Given the description of an element on the screen output the (x, y) to click on. 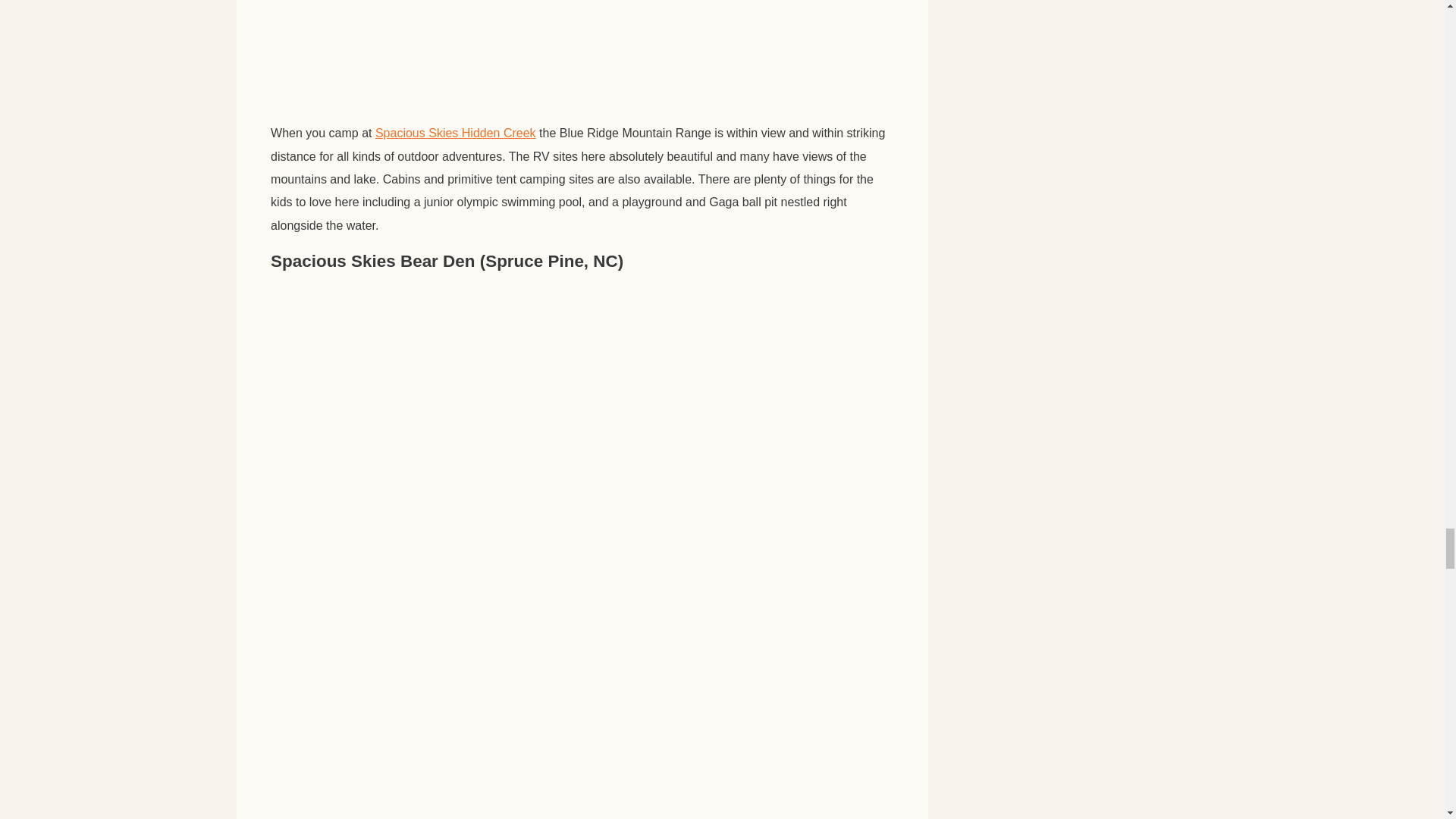
Spacious Skies Hidden Creek (455, 133)
